Given the description of an element on the screen output the (x, y) to click on. 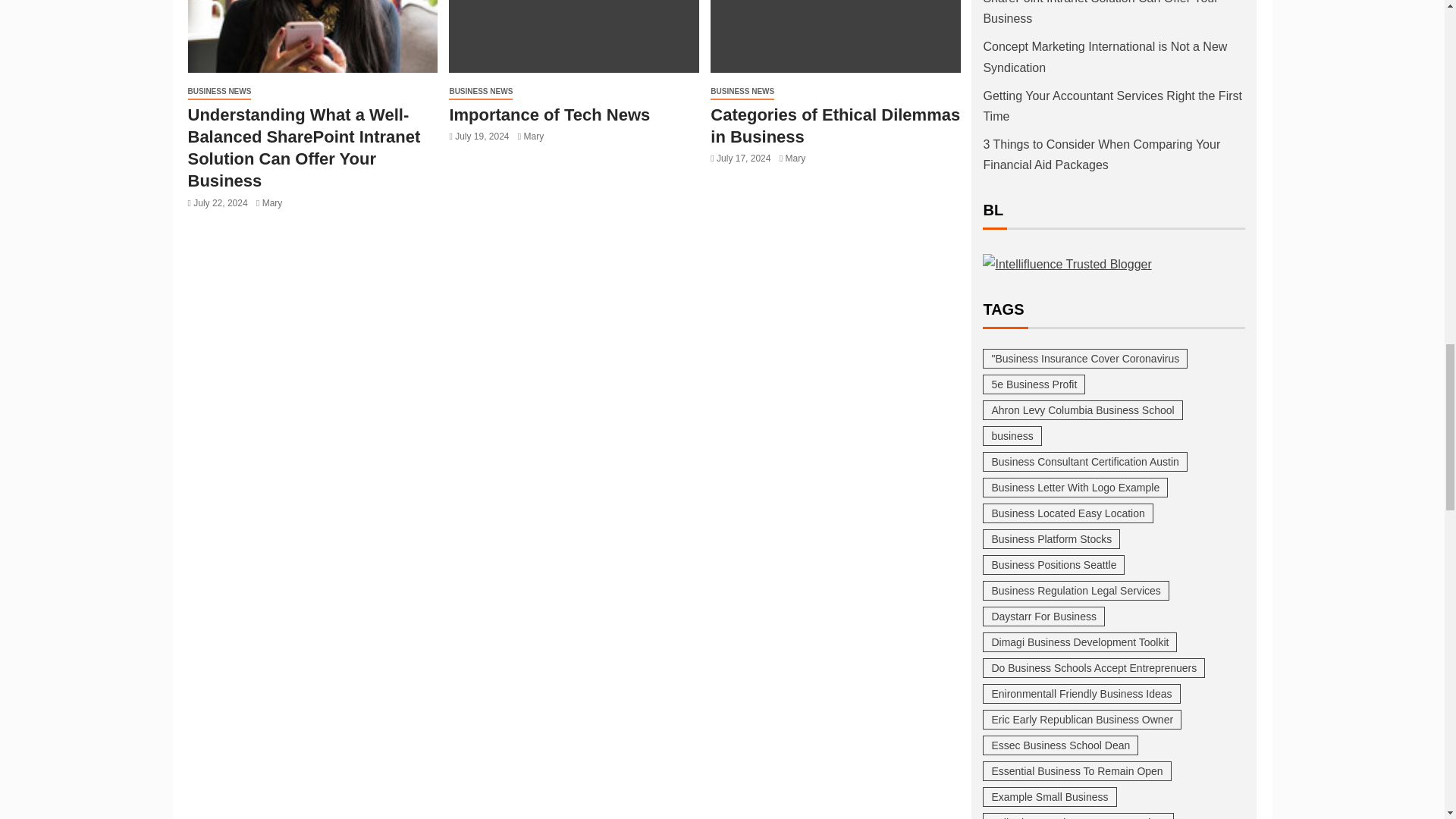
Importance of Tech News (573, 36)
BUSINESS NEWS (219, 91)
Categories of Ethical Dilemmas in Business (835, 36)
